Given the description of an element on the screen output the (x, y) to click on. 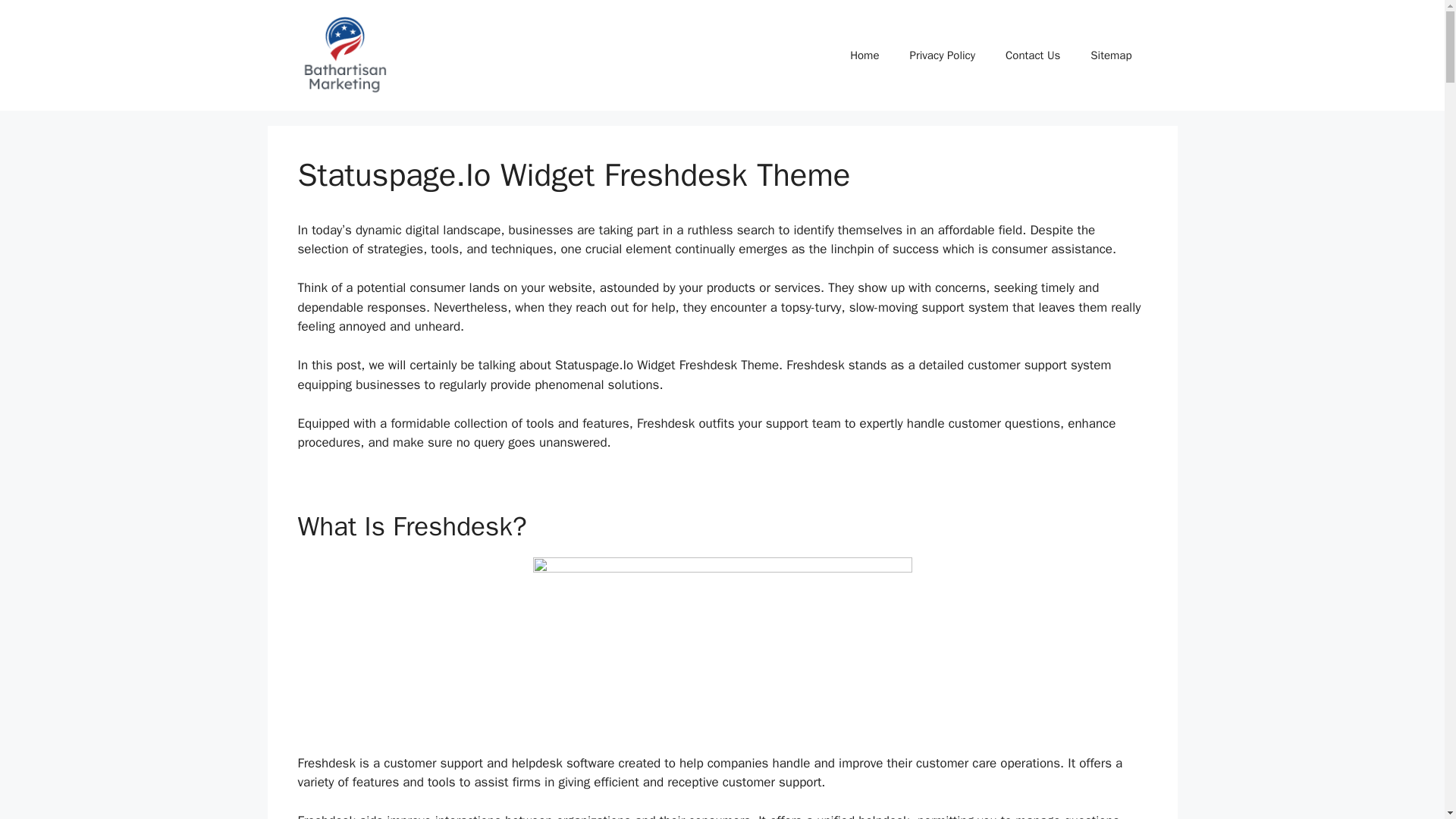
Home (863, 54)
Privacy Policy (941, 54)
Contact Us (1032, 54)
Sitemap (1111, 54)
